Given the description of an element on the screen output the (x, y) to click on. 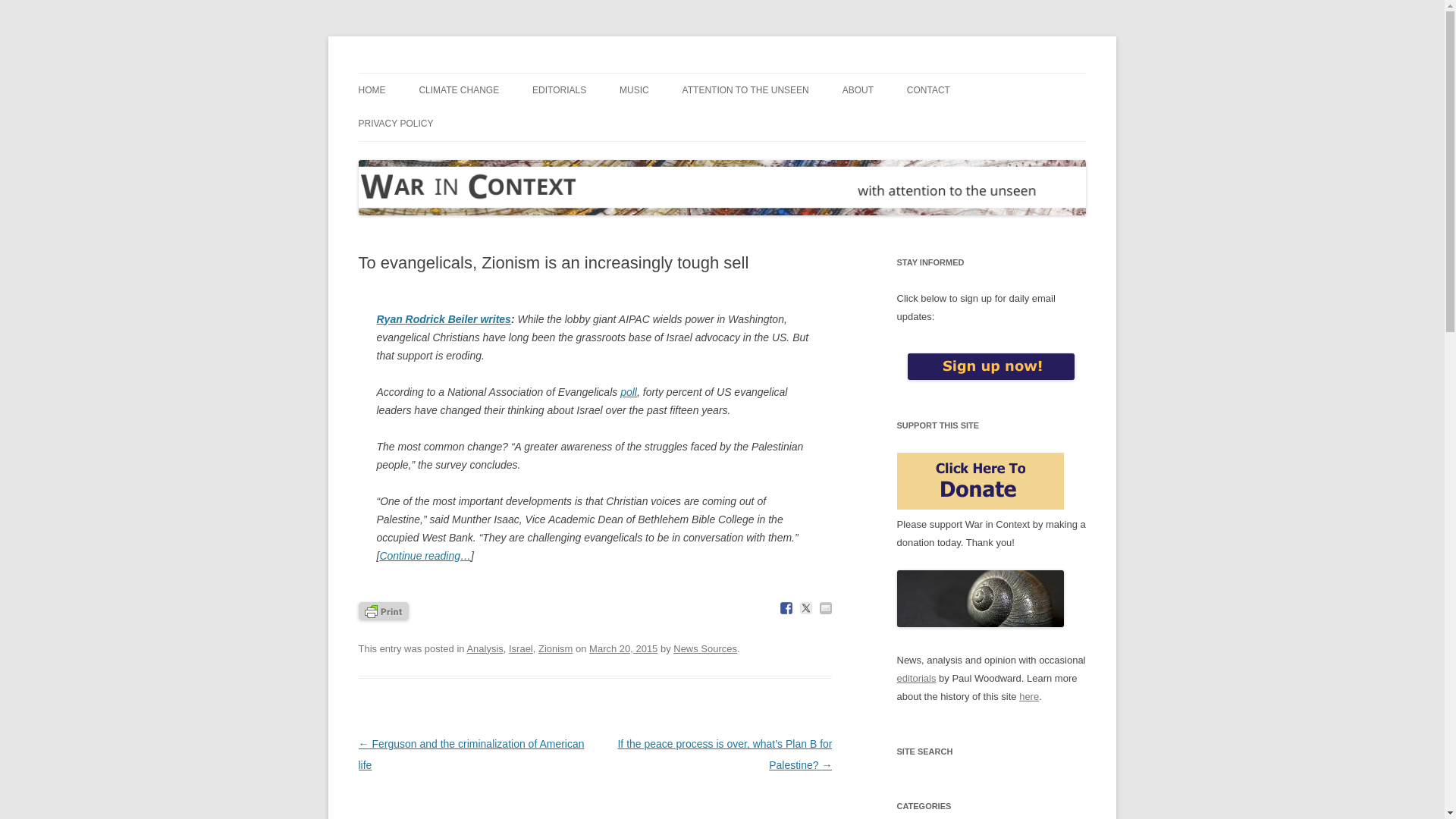
News Sources (704, 648)
HOME (371, 90)
CLIMATE CHANGE (459, 90)
Israel (520, 648)
March 20, 2015 (623, 648)
MUSIC (634, 90)
2:08 pm (623, 648)
CONTACT (928, 90)
Share by email (825, 607)
PRIVACY POLICY (395, 123)
ATTENTION TO THE UNSEEN (745, 90)
Analysis (483, 648)
here (1029, 696)
Zionism (555, 648)
